Given the description of an element on the screen output the (x, y) to click on. 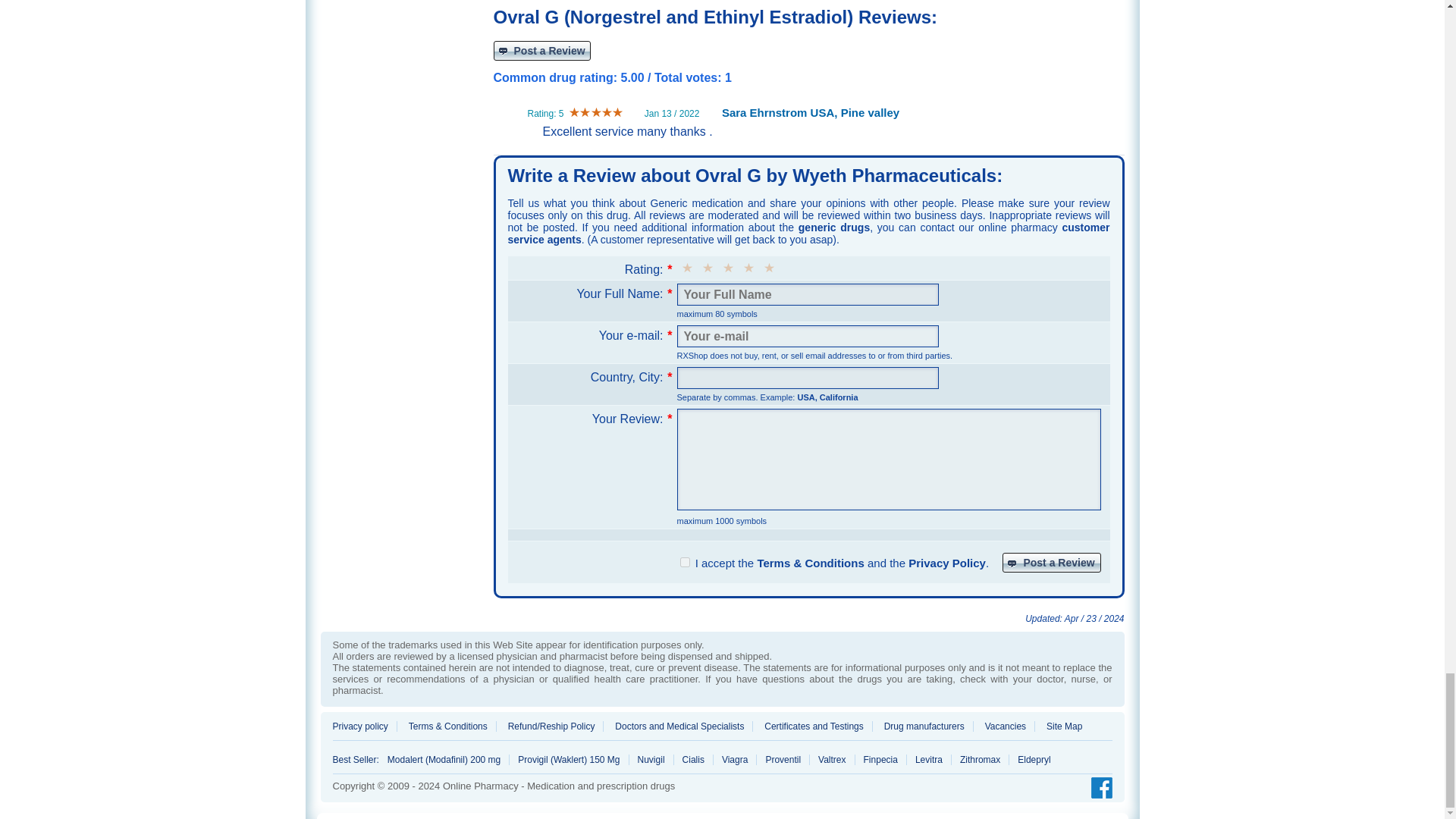
on (683, 562)
Reviews about Norgestrel and Ethinyl Estradiol  (541, 50)
Facebook (1097, 788)
